Given the description of an element on the screen output the (x, y) to click on. 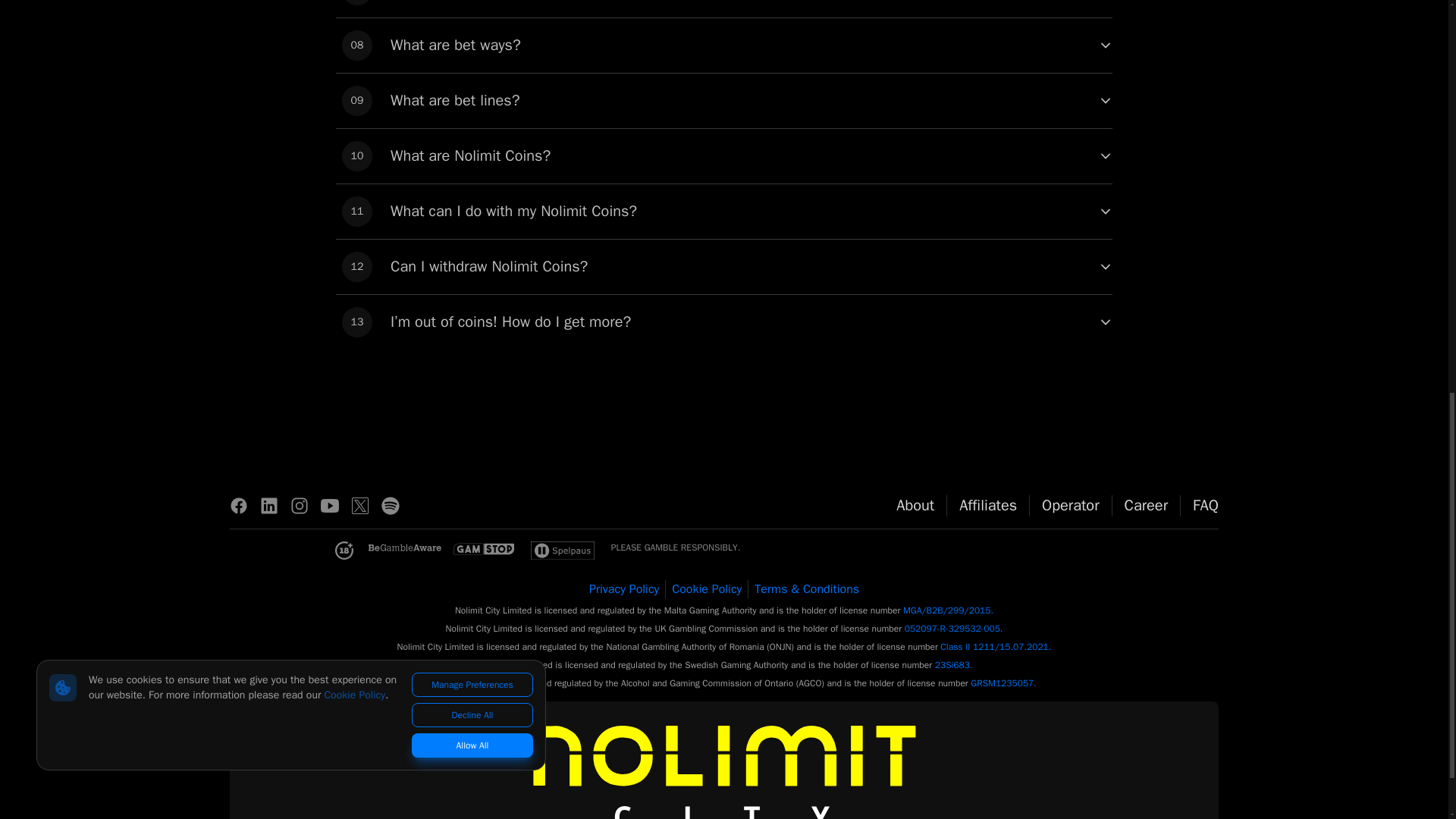
About (915, 505)
Career (1146, 505)
Operator (724, 211)
Affiliates (724, 45)
FAQ (1070, 505)
